Given the description of an element on the screen output the (x, y) to click on. 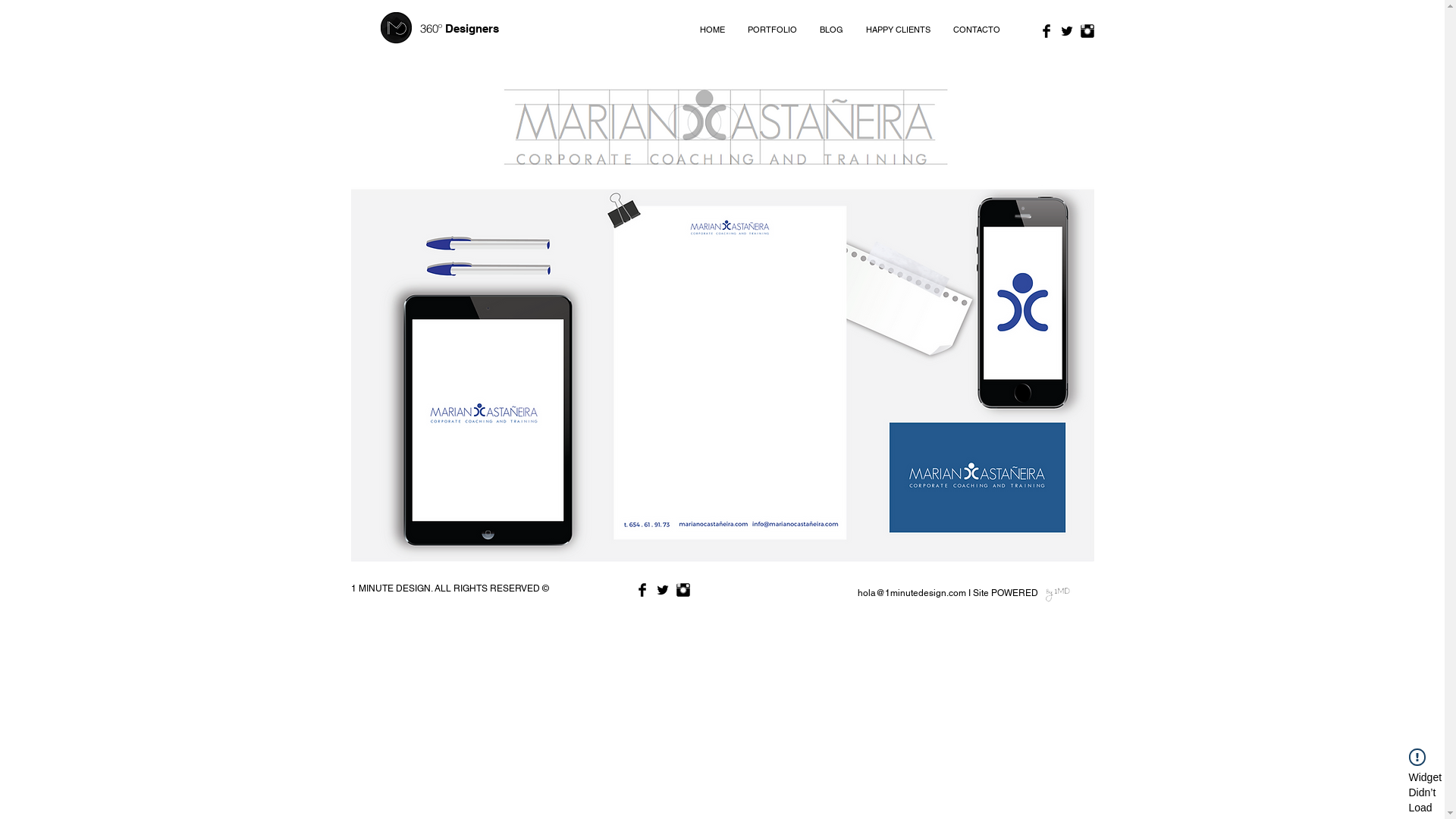
HAPPY CLIENTS Element type: text (897, 29)
5181928_orig.png Element type: hover (721, 373)
hola@1minutedesign.com Element type: text (910, 592)
Facebook Like Element type: hover (761, 590)
Untitled-1.png 2016-1-9-22:53:17 Element type: hover (393, 28)
Untitled-1.png 2016-1-9-22:53:17 Element type: hover (395, 27)
7513255-1 copy.png Element type: hover (1056, 593)
BLOG Element type: text (831, 29)
Captura de pantalla 2016-01-18 a las 8.09.19 p.m..png Element type: hover (721, 130)
CONTACTO Element type: text (976, 29)
PORTFOLIO Element type: text (771, 29)
HOME Element type: text (712, 29)
